Given the description of an element on the screen output the (x, y) to click on. 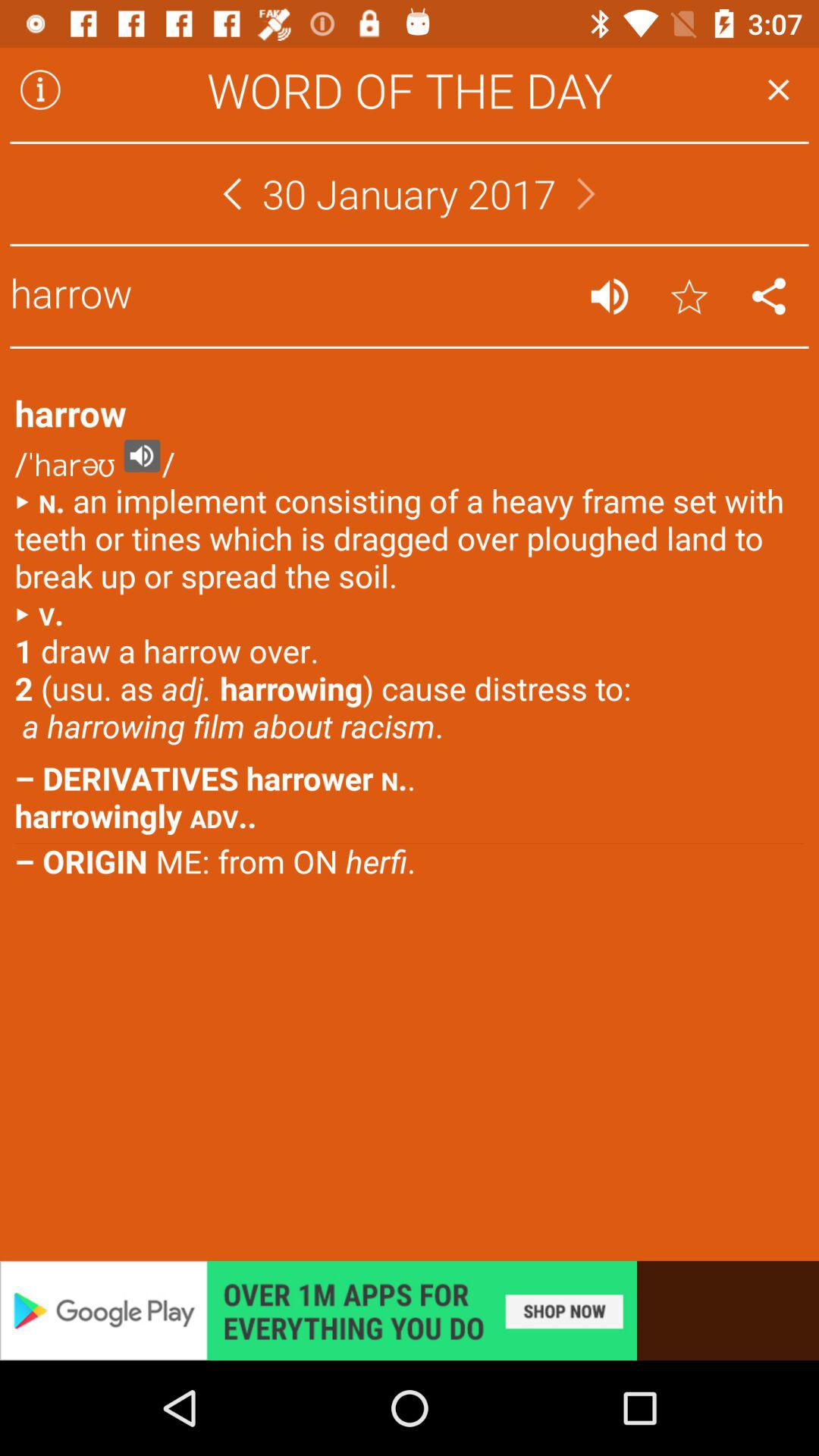
go back (231, 193)
